Given the description of an element on the screen output the (x, y) to click on. 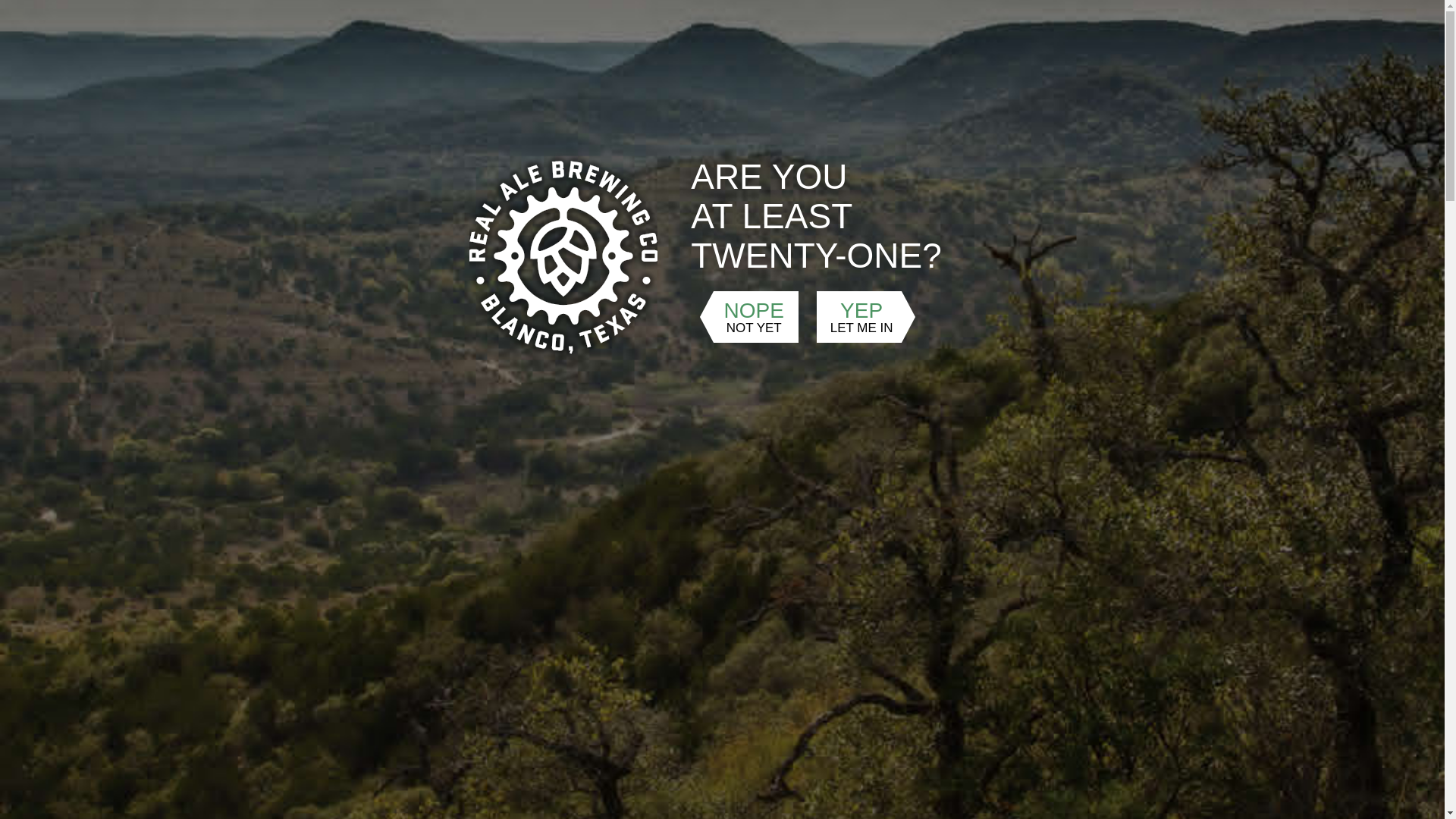
BEERS (577, 144)
BREWERY (659, 144)
STORE (962, 144)
ANSWERS (1045, 144)
OUR WAY (497, 144)
DISTILLERY (757, 144)
Check out our beer pages. (833, 390)
